Given the description of an element on the screen output the (x, y) to click on. 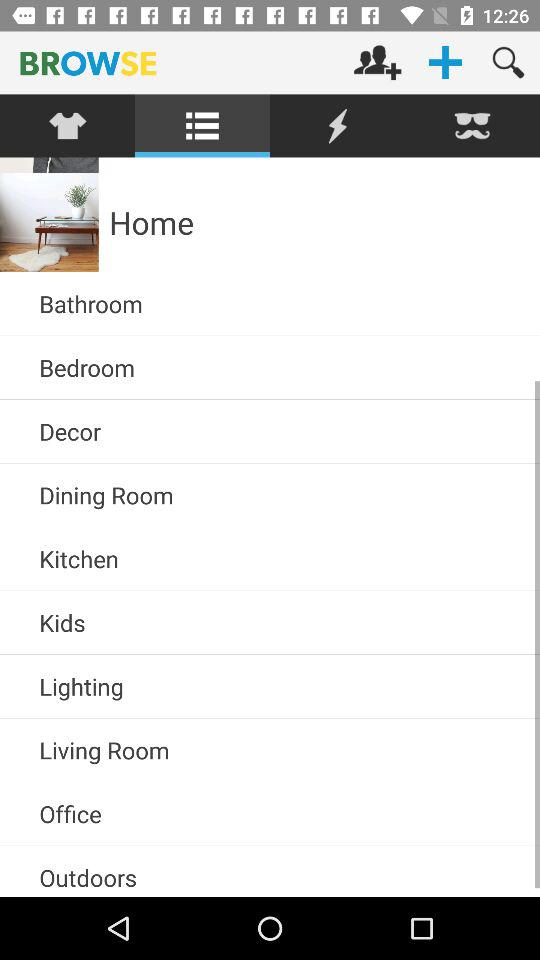
select the pattern (67, 125)
